Given the description of an element on the screen output the (x, y) to click on. 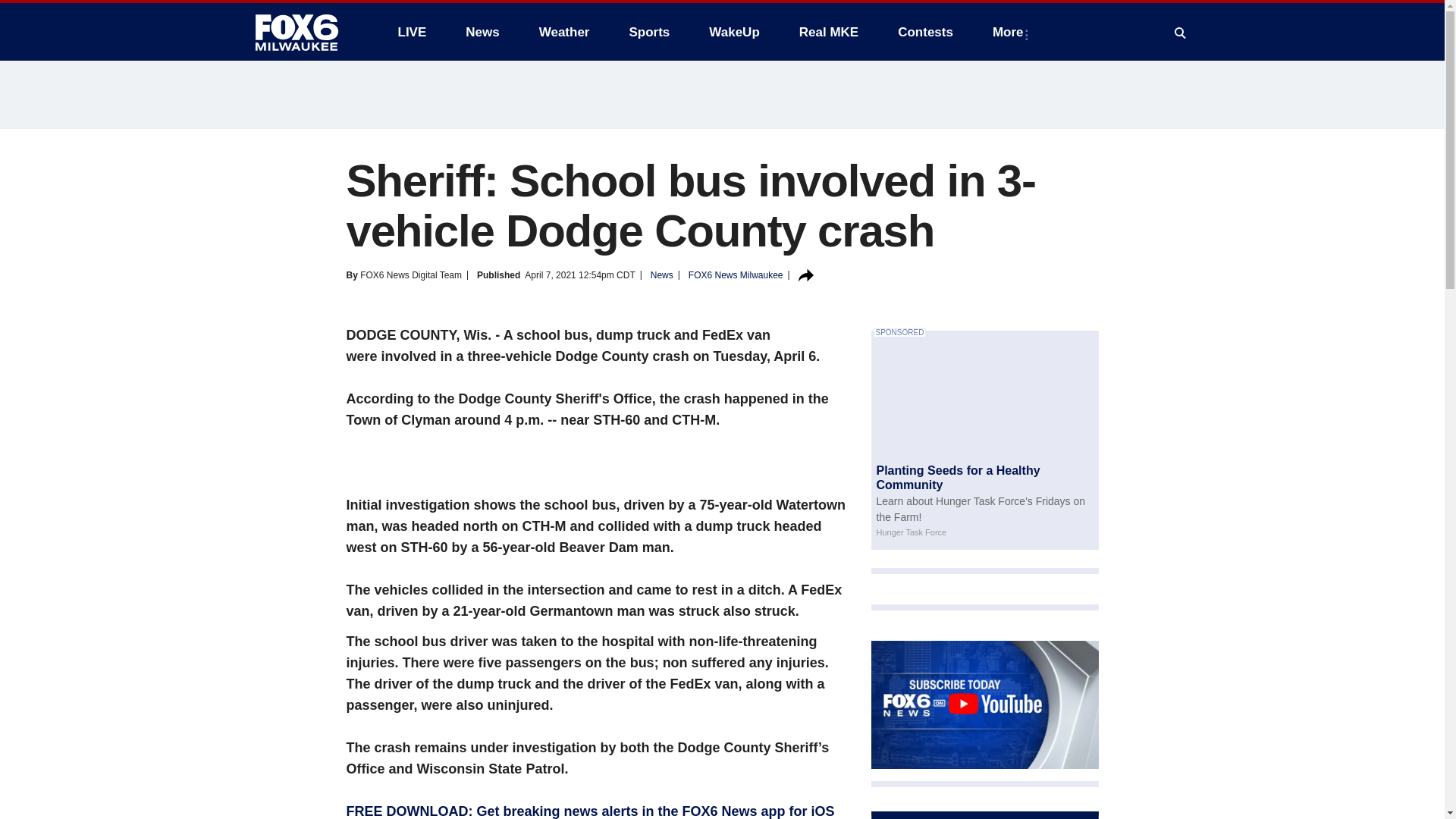
Real MKE (828, 32)
Sports (648, 32)
LIVE (411, 32)
WakeUp (734, 32)
News (481, 32)
Weather (564, 32)
Contests (925, 32)
More (1010, 32)
